Given the description of an element on the screen output the (x, y) to click on. 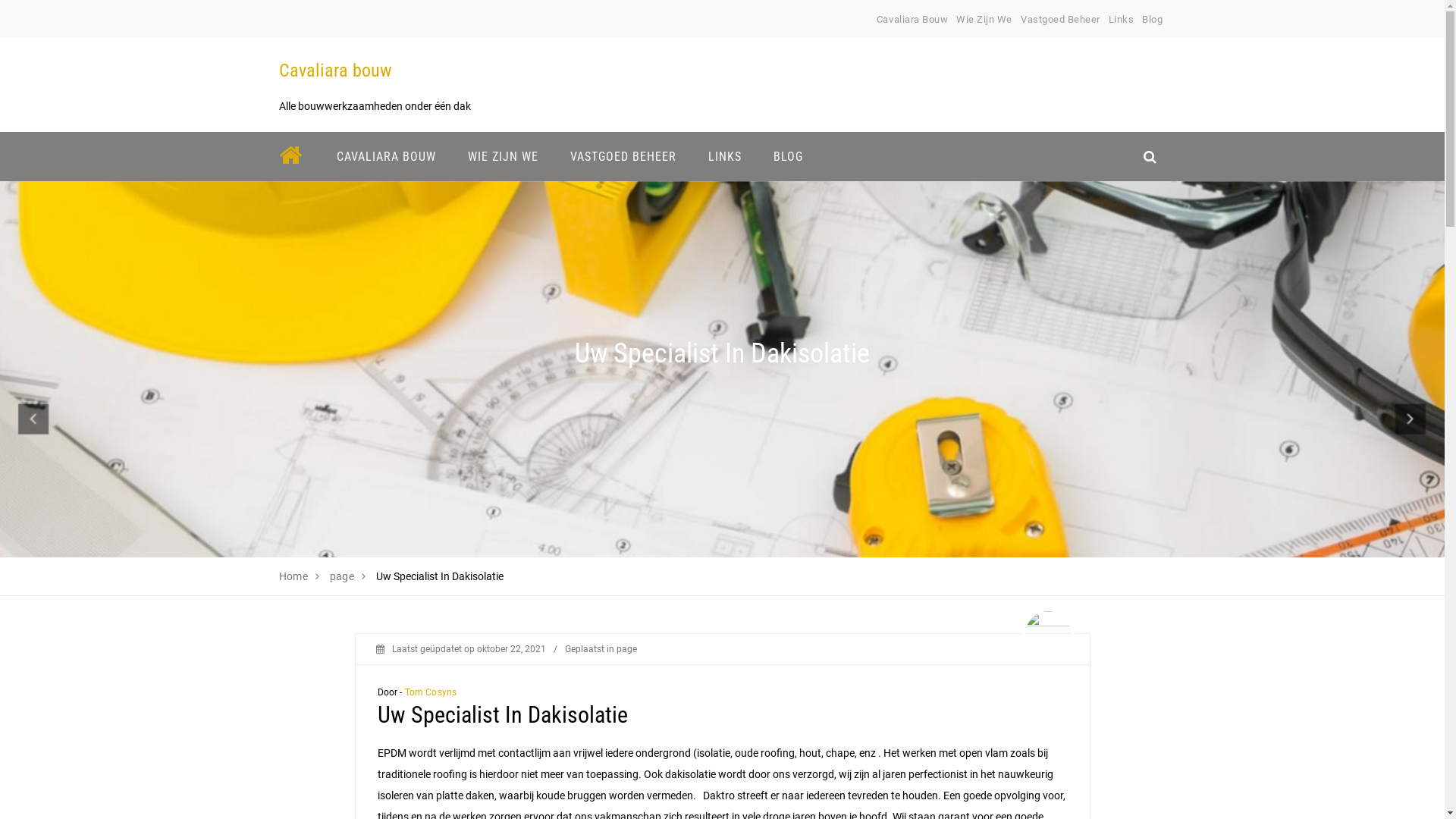
CAVALIARA BOUW Element type: text (385, 156)
WIE ZIJN WE Element type: text (503, 156)
BLOG Element type: text (787, 156)
page Element type: text (625, 648)
VASTGOED BEHEER Element type: text (622, 156)
Wie Zijn We Element type: text (984, 19)
Cavaliara Bouw Element type: text (911, 19)
LINKS Element type: text (723, 156)
Cavaliara bouw Element type: text (335, 70)
search_icon Element type: hover (1148, 156)
Tom Cosyns Element type: text (430, 692)
Links Element type: text (1121, 19)
page Element type: text (341, 576)
Home Element type: text (293, 576)
Blog Element type: text (1152, 19)
Vastgoed Beheer Element type: text (1060, 19)
